Given the description of an element on the screen output the (x, y) to click on. 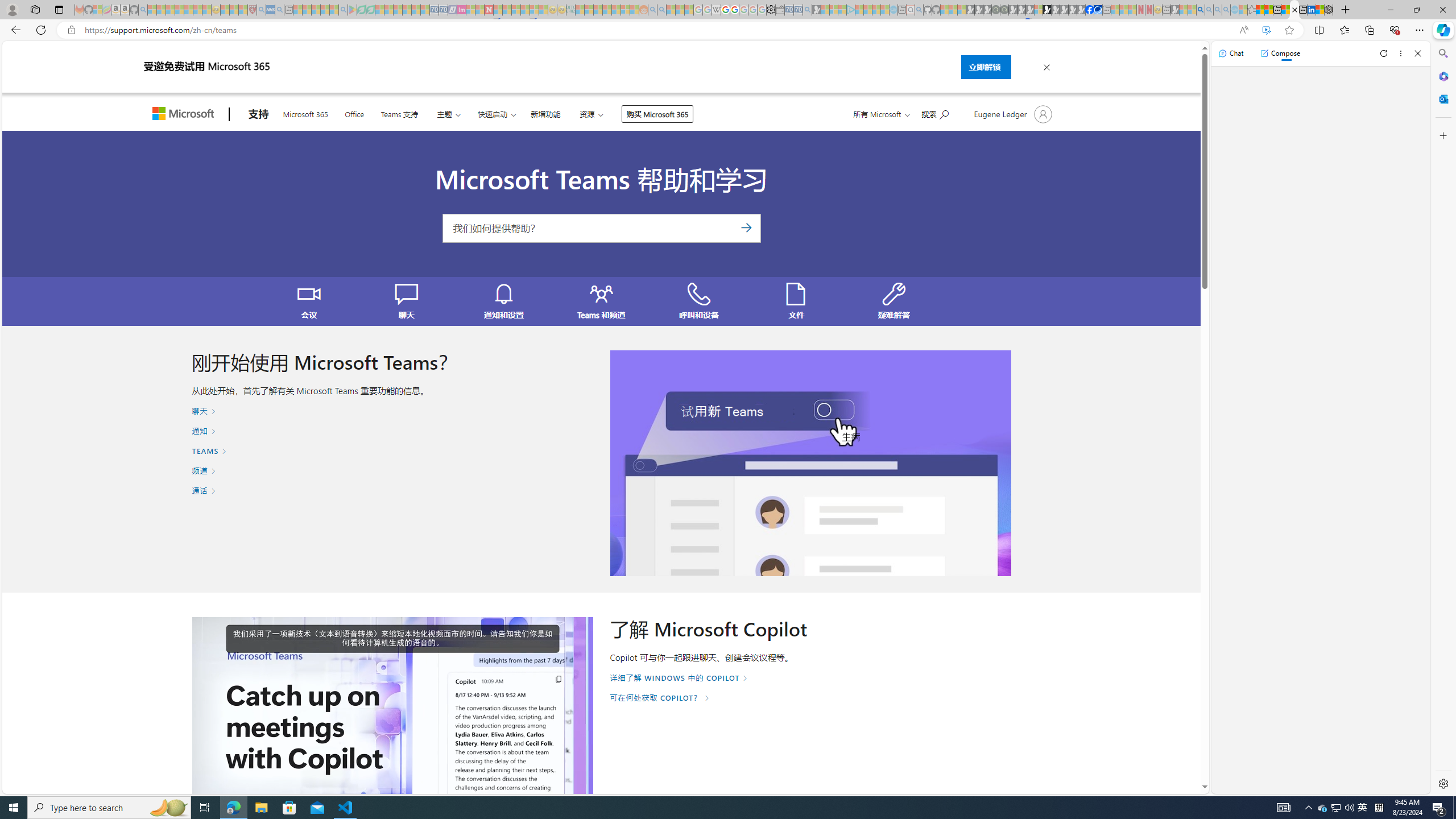
Tab actions menu (58, 9)
Target page - Wikipedia - Sleeping (716, 9)
Latest Politics News & Archive | Newsweek.com - Sleeping (488, 9)
Add this page to favorites (Ctrl+D) (1289, 29)
Bing AI - Search (1200, 9)
The Weather Channel - MSN - Sleeping (170, 9)
